Given the description of an element on the screen output the (x, y) to click on. 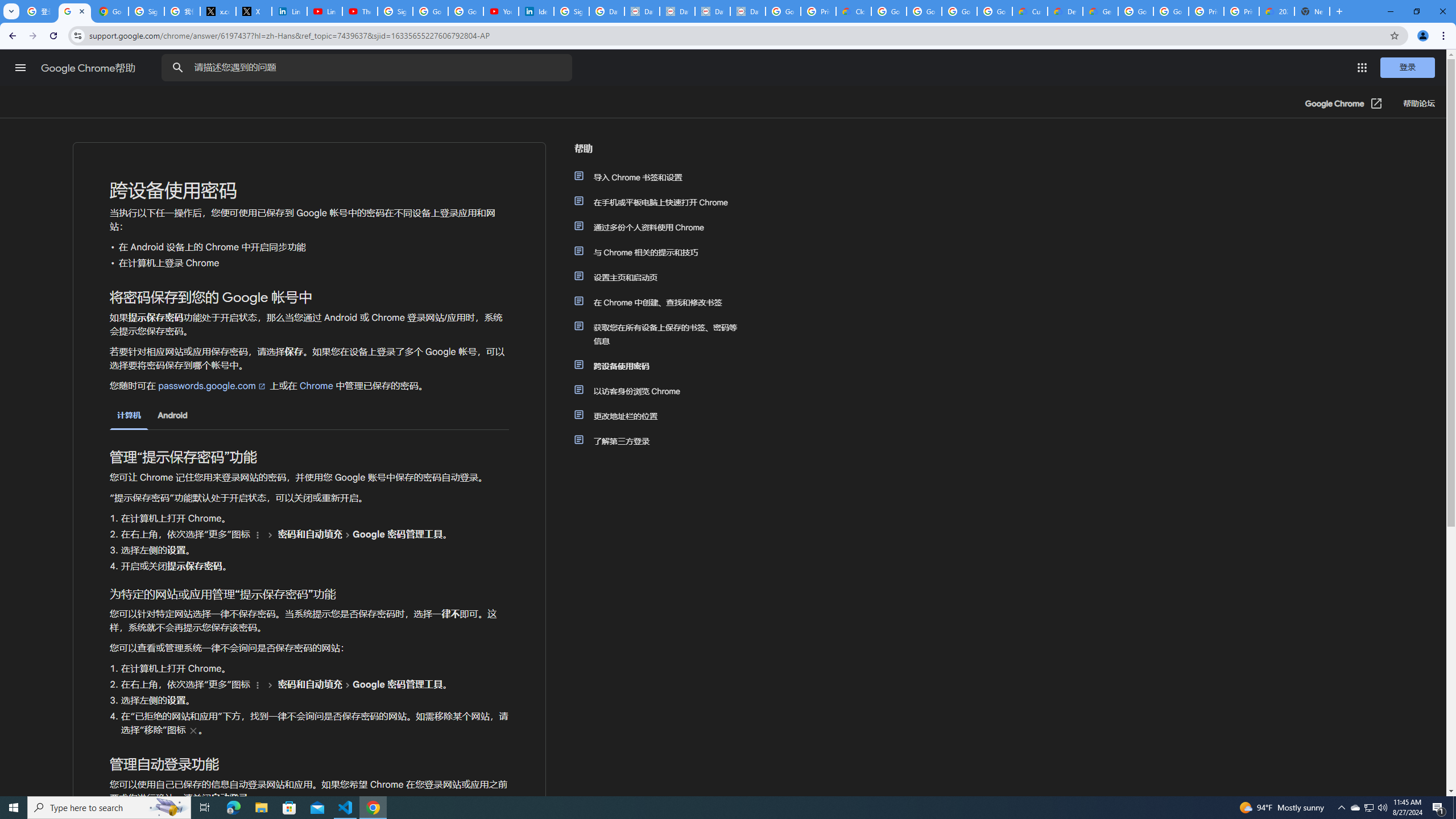
Customer Care | Google Cloud (1029, 11)
Data Privacy Framework (641, 11)
Sign in - Google Accounts (394, 11)
Data Privacy Framework (747, 11)
